Given the description of an element on the screen output the (x, y) to click on. 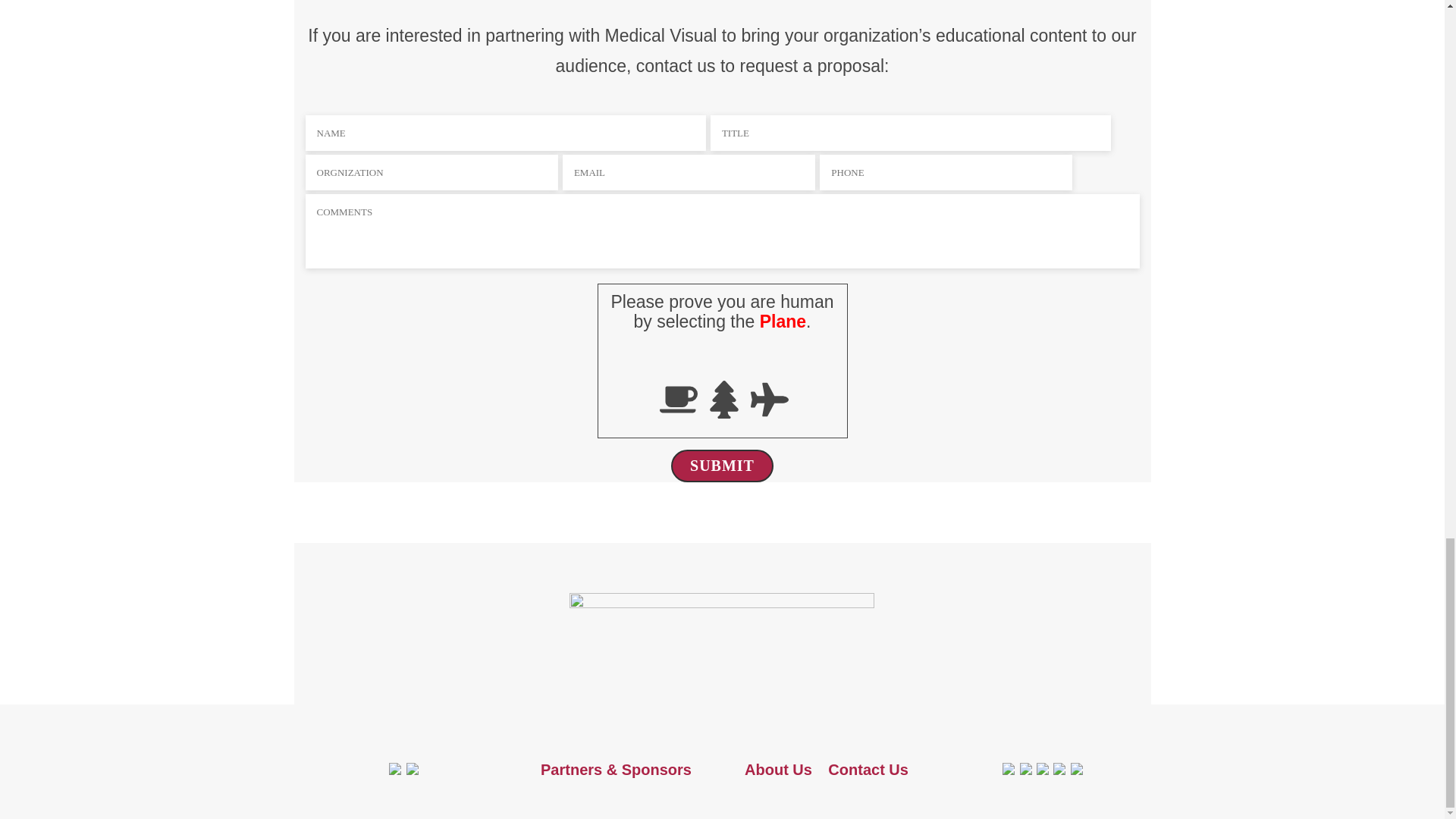
SUBMIT (722, 465)
logo-header (722, 636)
About Us (778, 769)
Contact Us (868, 769)
SUBMIT (722, 465)
